Given the description of an element on the screen output the (x, y) to click on. 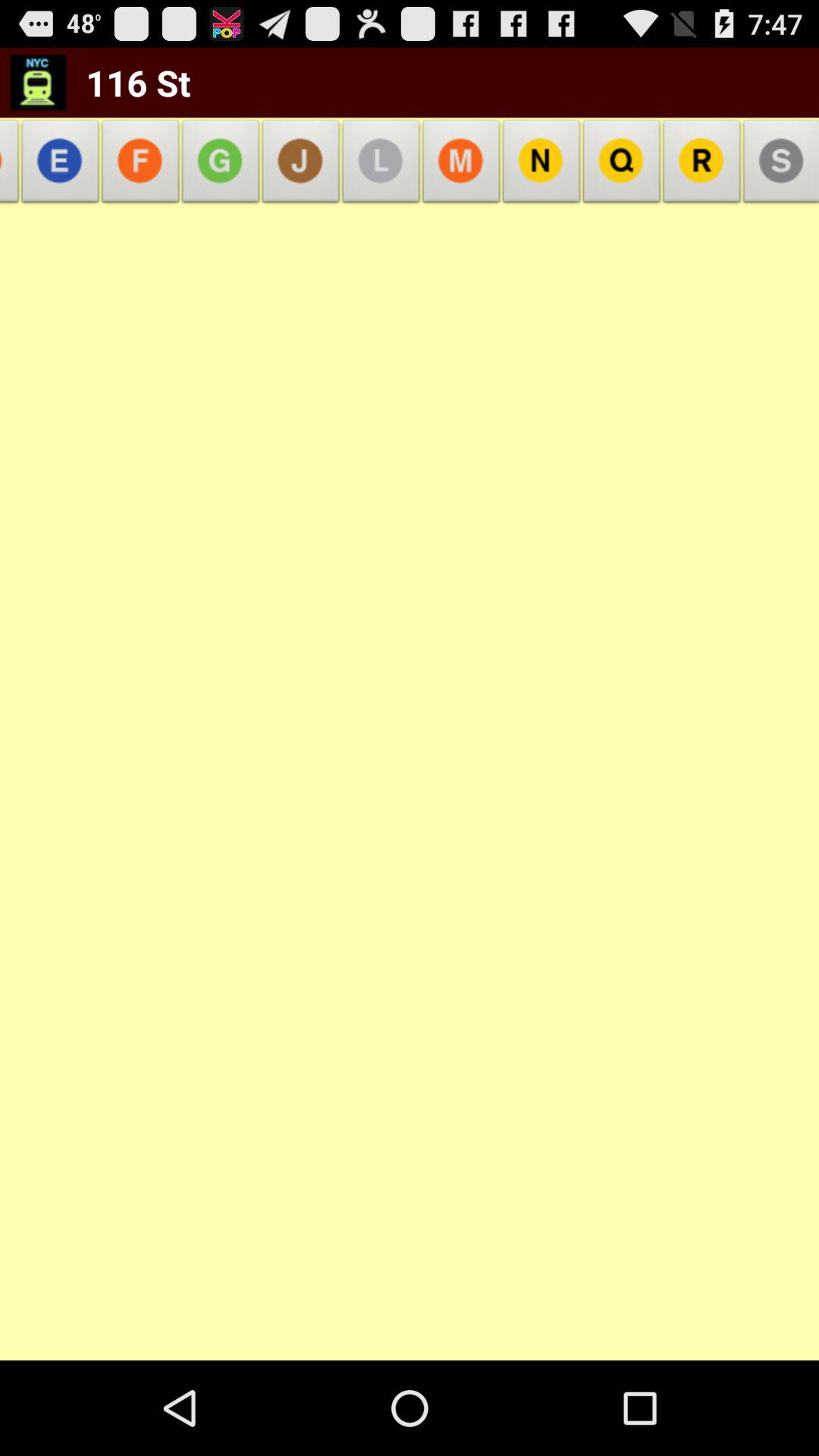
launch the item next to 116 st app (300, 165)
